Given the description of an element on the screen output the (x, y) to click on. 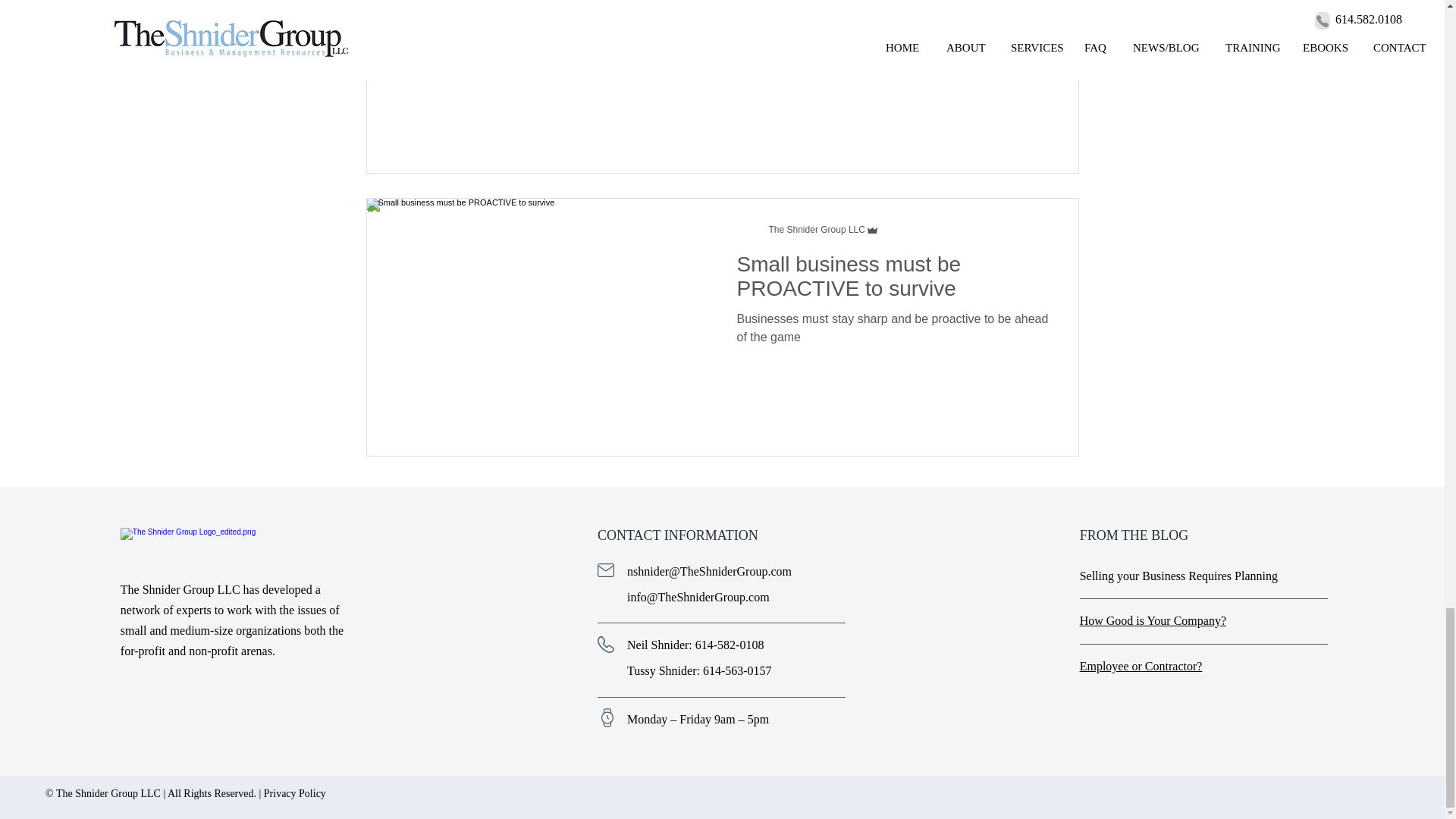
The Shnider Group LLC (816, 229)
